Given the description of an element on the screen output the (x, y) to click on. 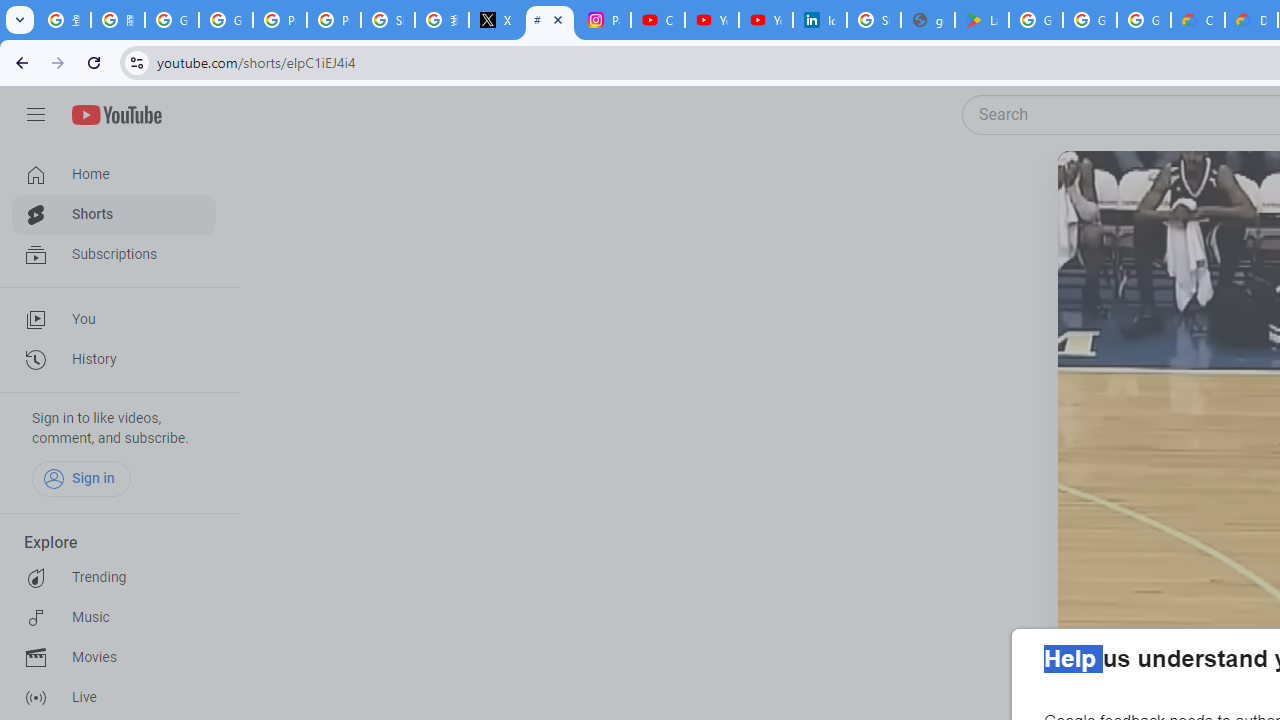
Mute (1161, 191)
History (113, 359)
Shorts (113, 214)
YouTube Home (116, 115)
Play (k) (1097, 191)
google_privacy_policy_en.pdf (927, 20)
Privacy Help Center - Policies Help (333, 20)
Guide (35, 115)
Live (113, 697)
